Given the description of an element on the screen output the (x, y) to click on. 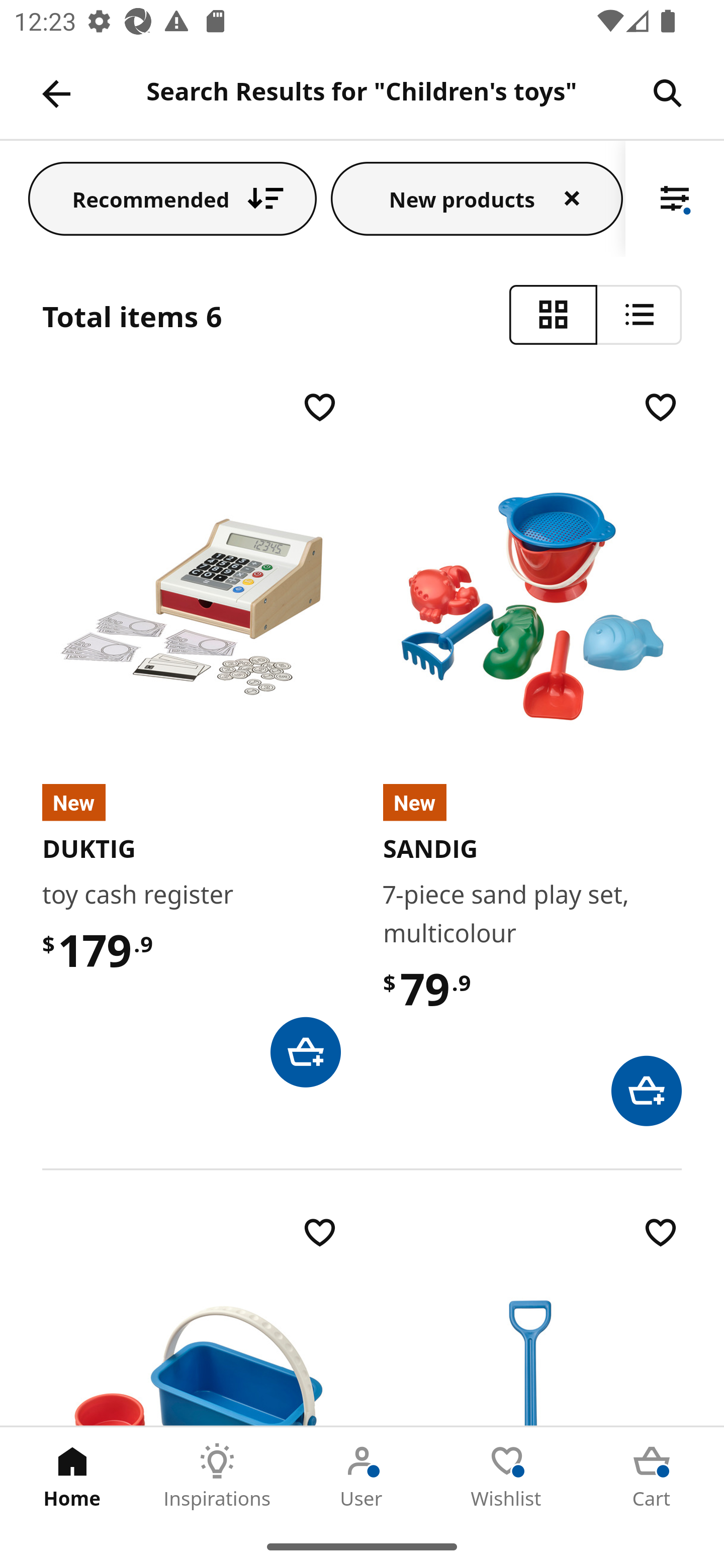
Recommended (172, 198)
New products (476, 198)
New
​D​U​K​T​I​G​
toy cash register
$
179
.9 (191, 737)
New
​S​A​N​D​I​G​
spade, blue
$
14
.9 (532, 1318)
Home
Tab 1 of 5 (72, 1476)
Inspirations
Tab 2 of 5 (216, 1476)
User
Tab 3 of 5 (361, 1476)
Wishlist
Tab 4 of 5 (506, 1476)
Cart
Tab 5 of 5 (651, 1476)
